Given the description of an element on the screen output the (x, y) to click on. 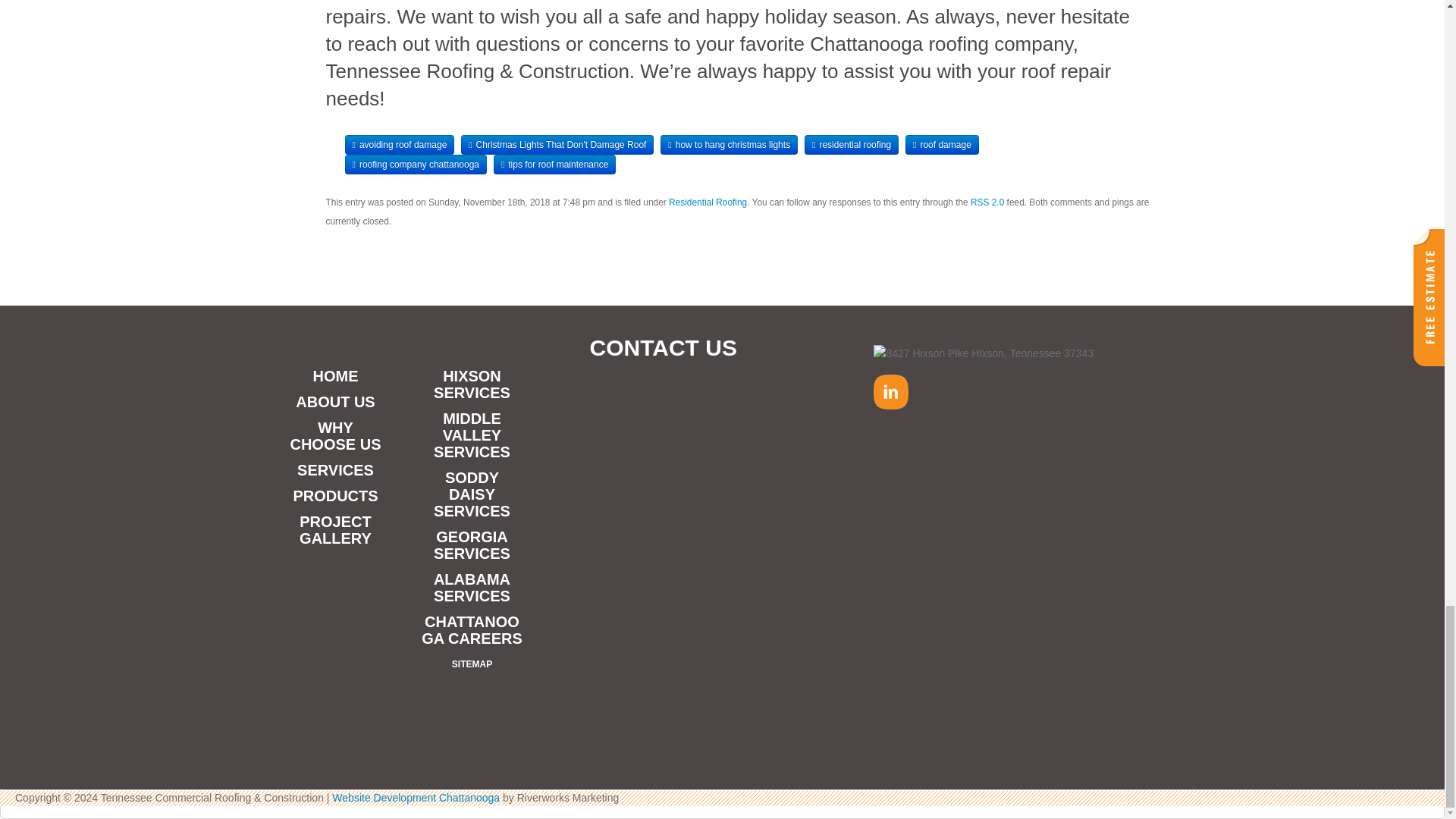
roof damage (941, 144)
Christmas Lights That Don't Damage Roof (557, 144)
avoiding roof damage (398, 144)
avoiding roof damage (398, 144)
Christmas Lights That Don't Damage Roof (557, 144)
residential roofing (851, 144)
how to hang christmas lights (729, 144)
tips for roof maintenance (554, 164)
roofing company chattanooga (414, 164)
residential roofing (851, 144)
roof damage (941, 144)
how to hang christmas lights (729, 144)
